Given the description of an element on the screen output the (x, y) to click on. 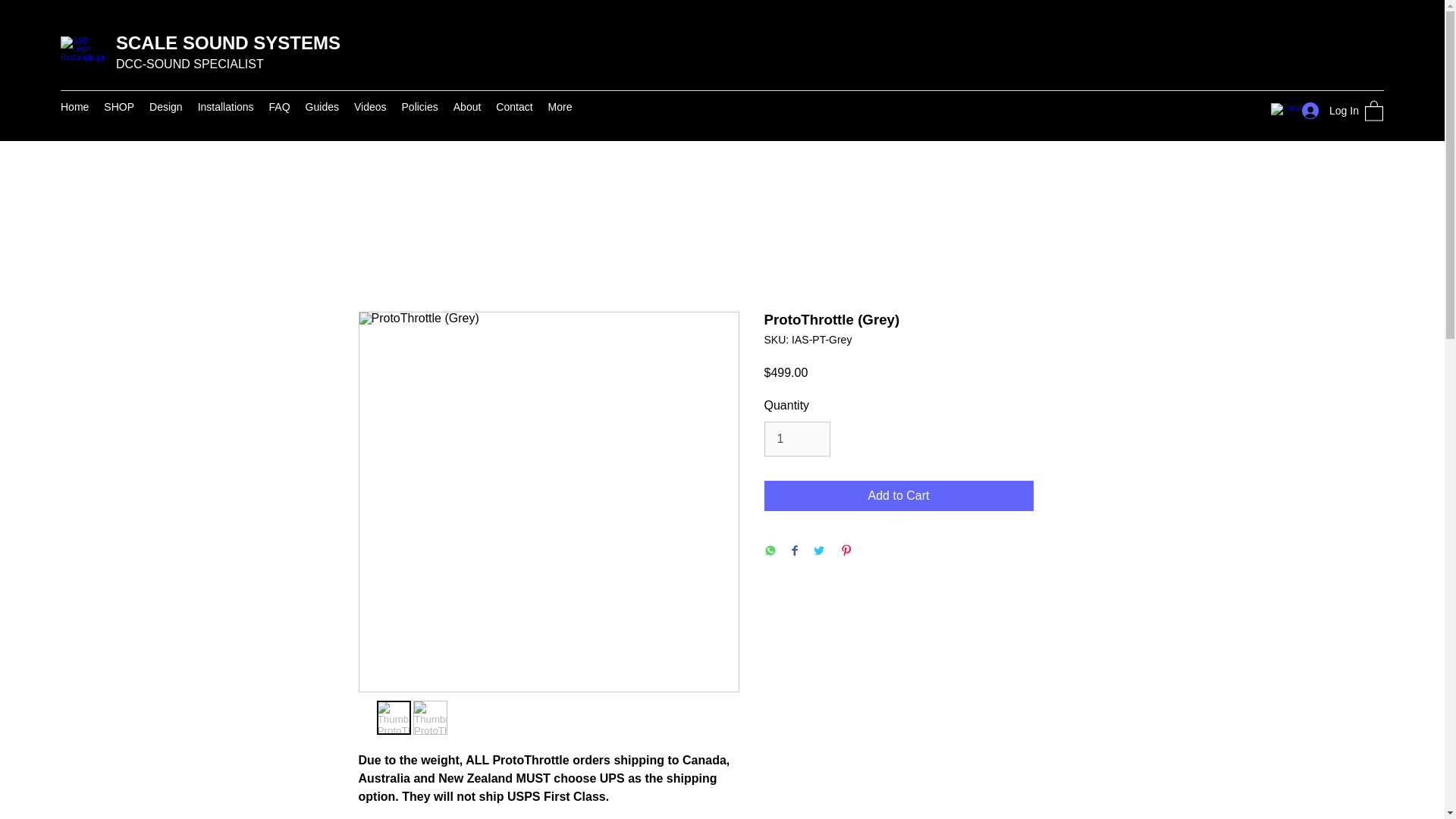
1 (796, 438)
Installations (226, 110)
Policies (419, 110)
Videos (370, 110)
Contact (513, 110)
SCALE SOUND SYSTEMS (228, 42)
Design (165, 110)
Log In (1325, 110)
SHOP (118, 110)
Home (74, 110)
